Given the description of an element on the screen output the (x, y) to click on. 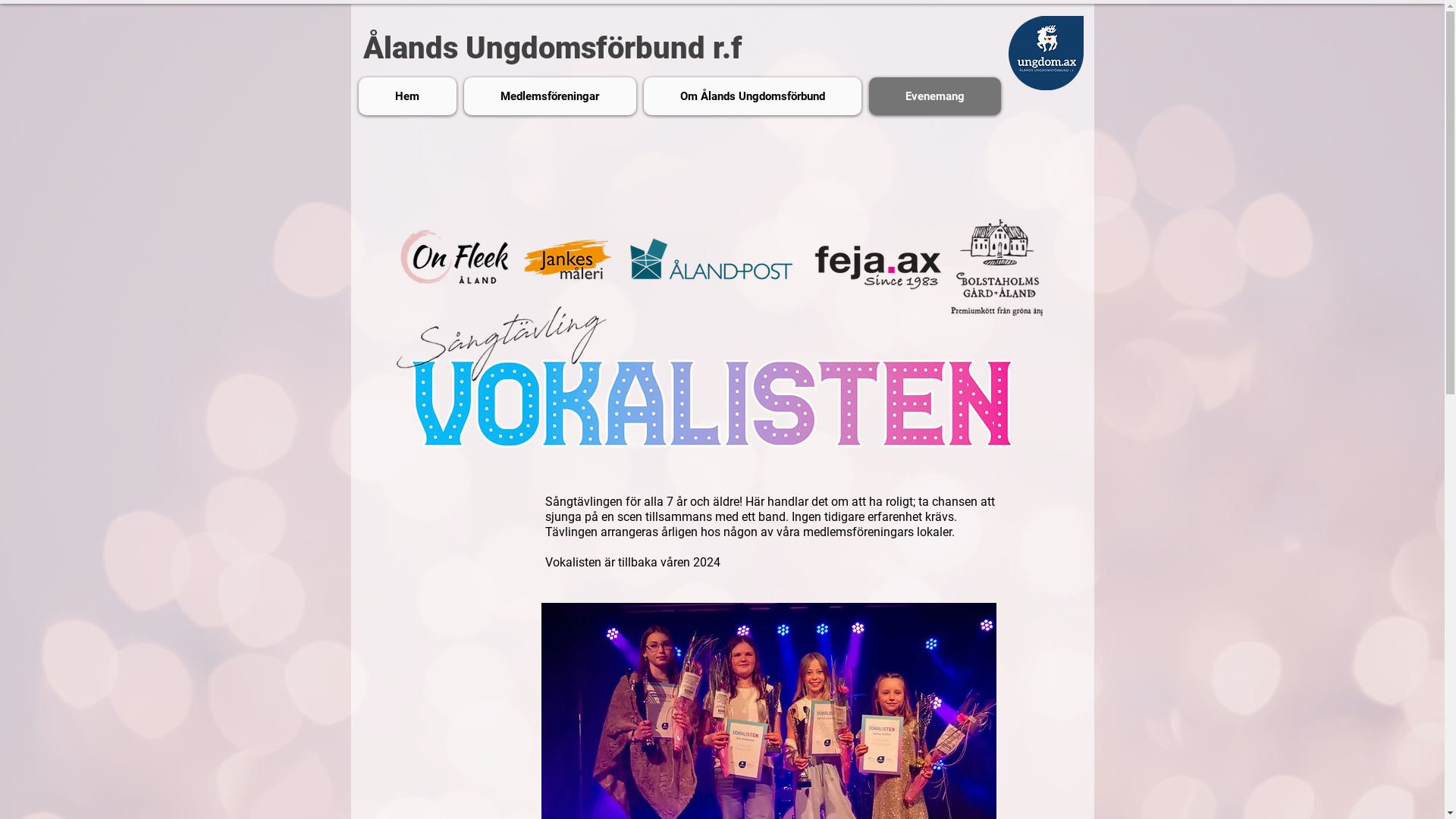
Evenemang Element type: text (935, 96)
Hem Element type: text (406, 96)
